Given the description of an element on the screen output the (x, y) to click on. 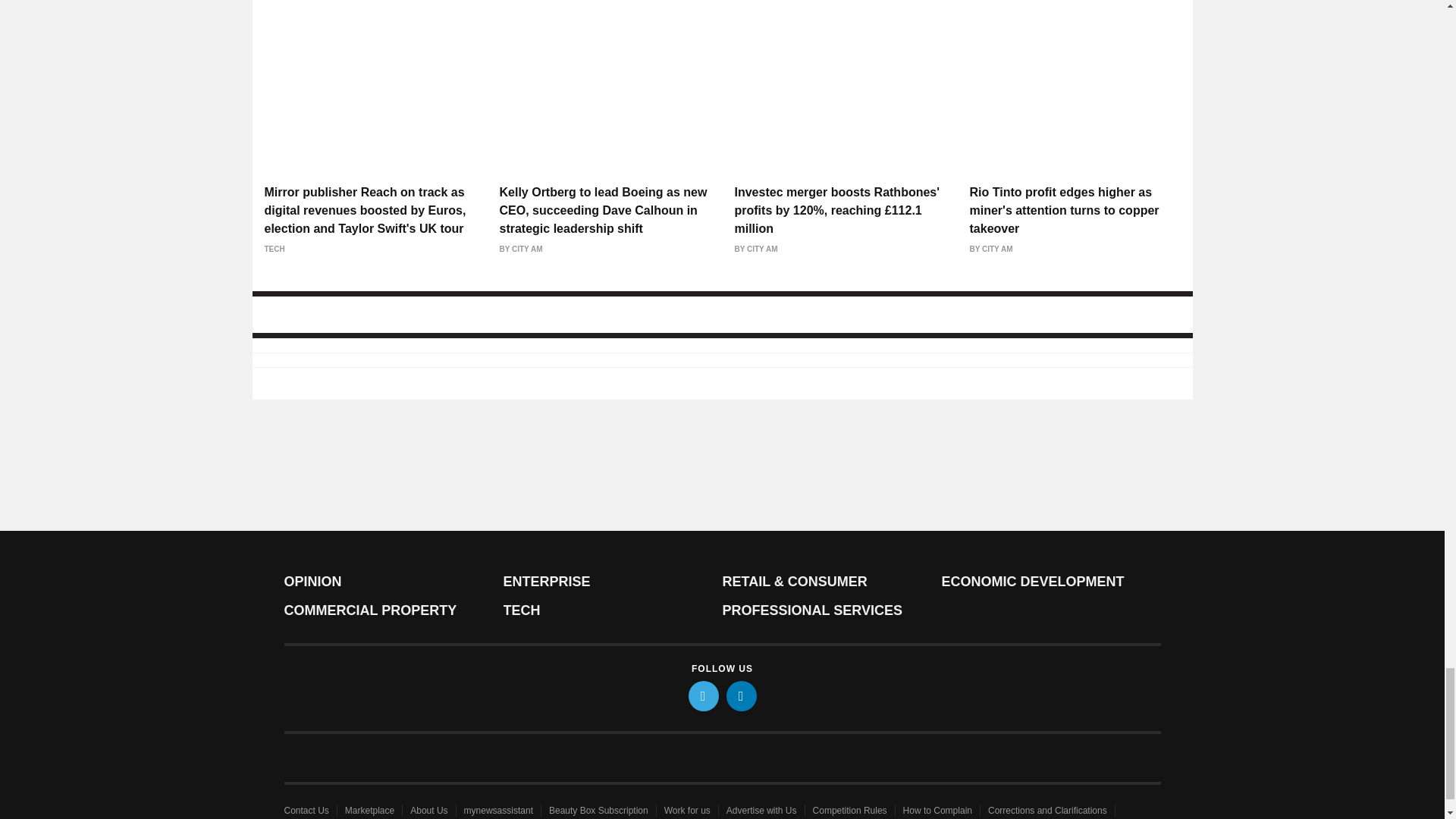
linkedin (741, 695)
twitter (703, 695)
